Given the description of an element on the screen output the (x, y) to click on. 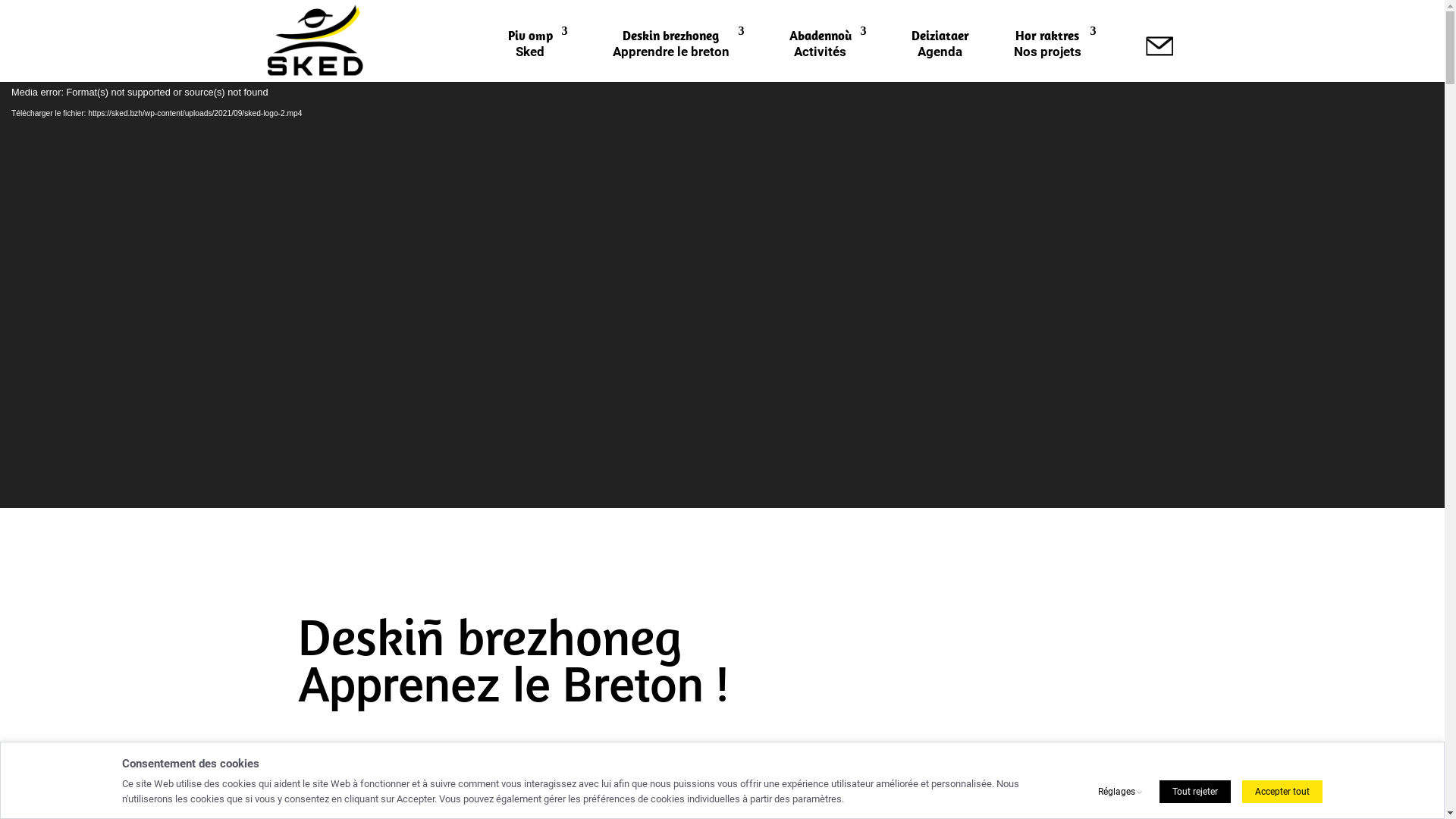
Accepter tout Element type: text (1282, 791)
Tout rejeter Element type: text (1194, 791)
2 Element type: text (703, 474)
3 Element type: text (715, 474)
5 Element type: text (740, 474)
Piv omp
Sked Element type: text (537, 53)
6 Element type: text (754, 474)
Deiziataer
Agenda Element type: text (940, 53)
1 Element type: text (689, 474)
Hor raktres
Nos projets Element type: text (1054, 53)
4 Element type: text (728, 474)
Deskin brezhoneg
Apprendre le breton Element type: text (678, 53)
